Given the description of an element on the screen output the (x, y) to click on. 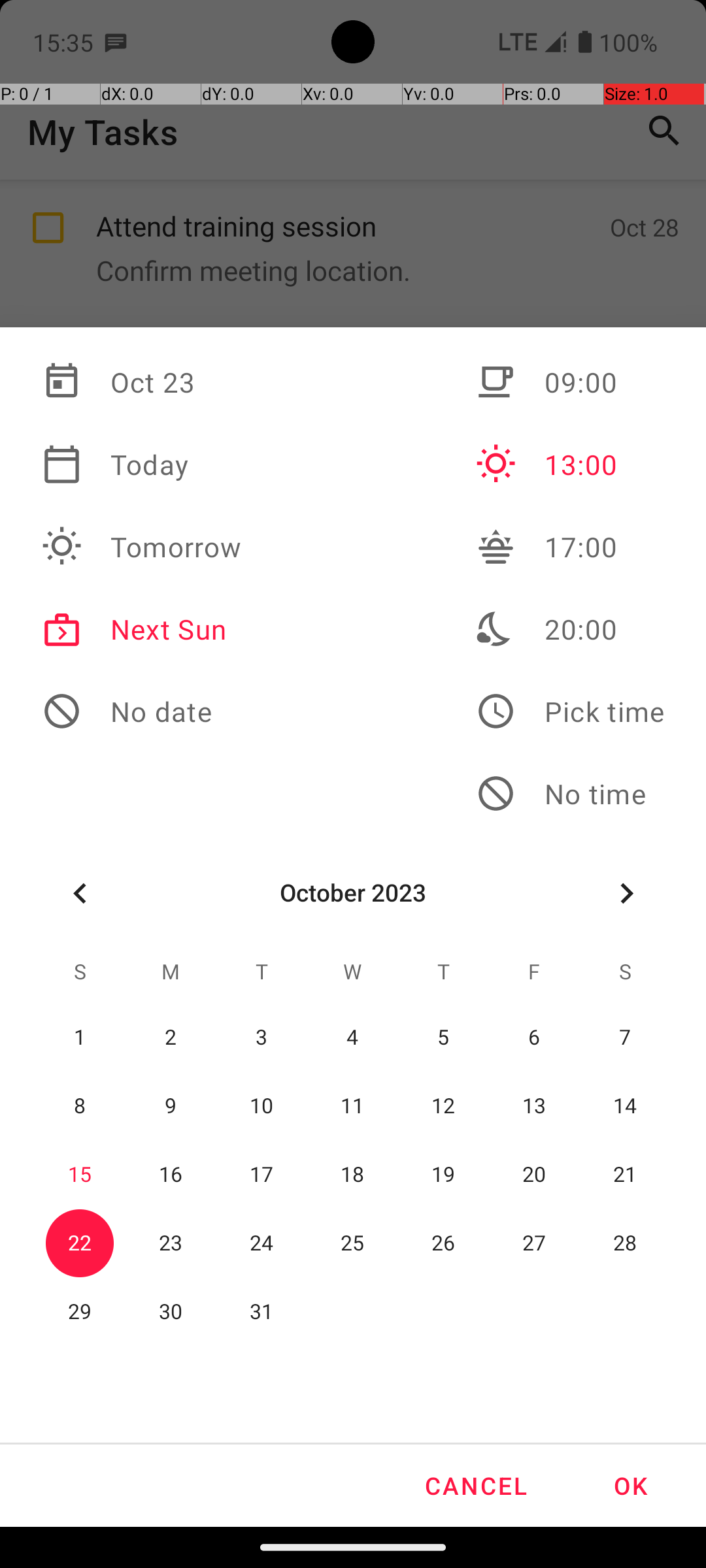
Oct 23 Element type: android.widget.CompoundButton (141, 382)
